Given the description of an element on the screen output the (x, y) to click on. 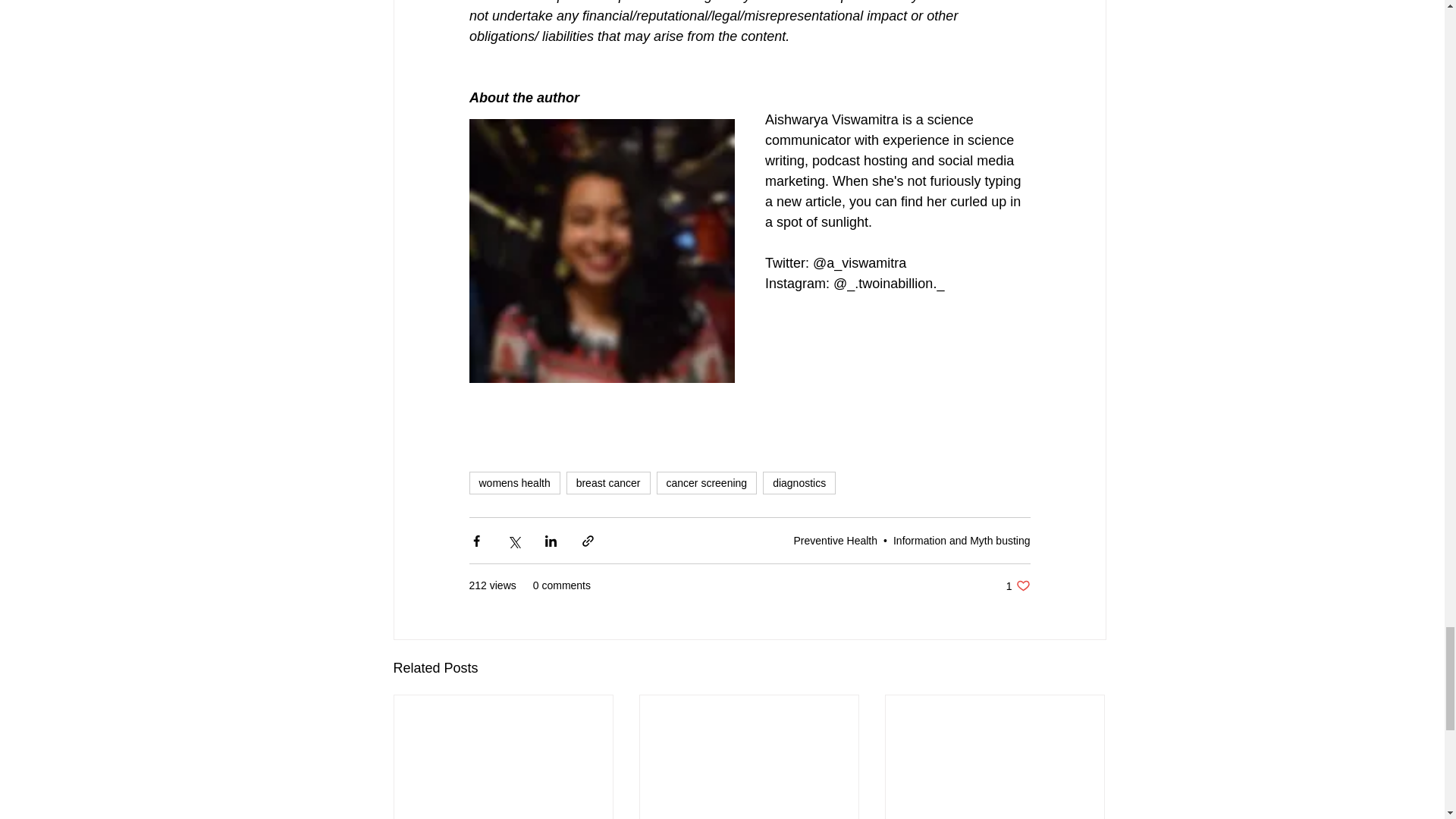
breast cancer (608, 482)
diagnostics (798, 482)
cancer screening (706, 482)
womens health (513, 482)
